Given the description of an element on the screen output the (x, y) to click on. 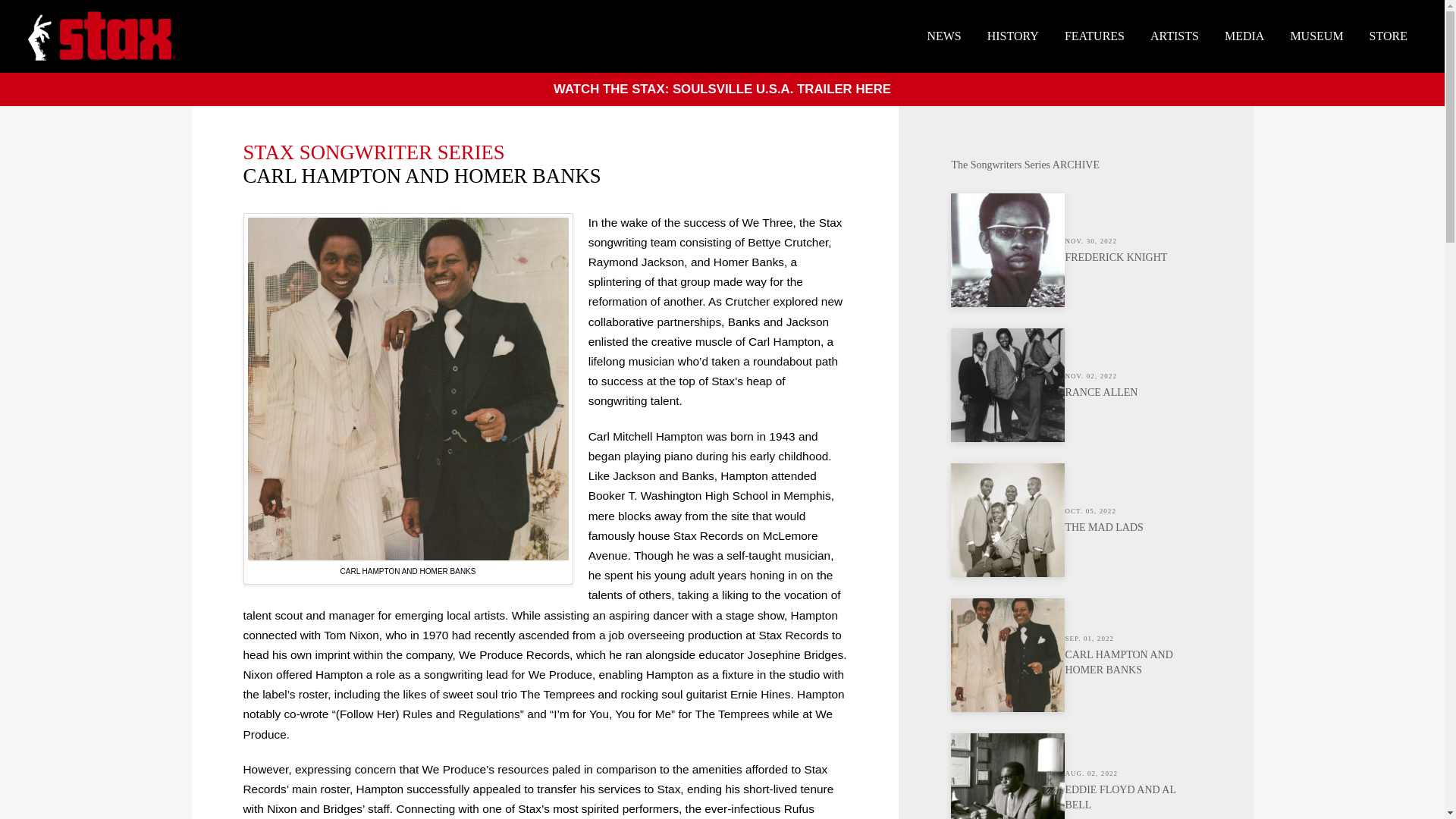
WATCH THE STAX: SOULSVILLE U.S.A. TRAILER HERE (722, 89)
STORE (1388, 36)
MUSEUM (1075, 250)
MEDIA (1075, 776)
FEATURES (1315, 36)
NEWS (1243, 36)
ARTISTS (1094, 36)
HISTORY (944, 36)
